Given the description of an element on the screen output the (x, y) to click on. 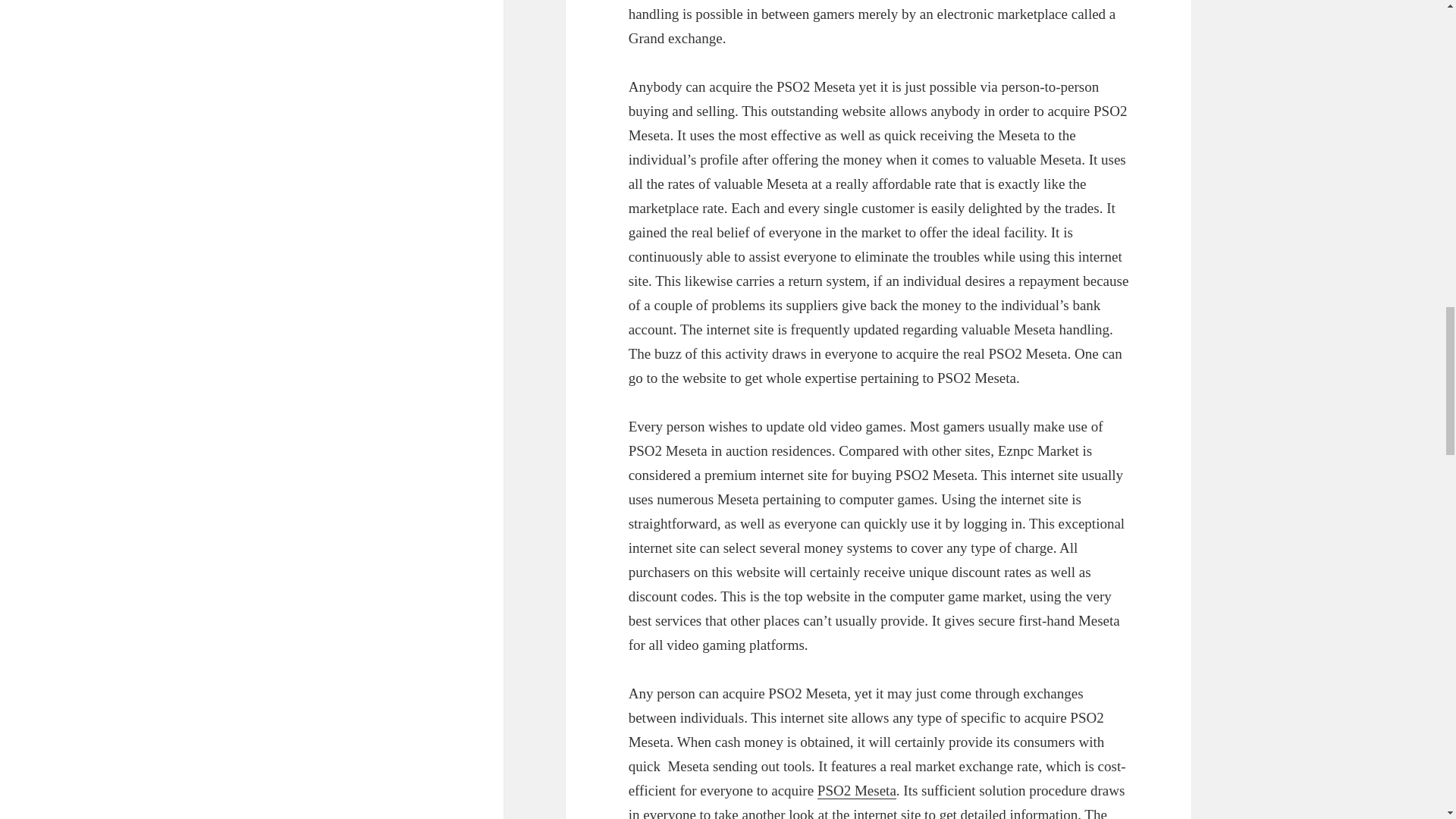
PSO2 Meseta (856, 790)
